Given the description of an element on the screen output the (x, y) to click on. 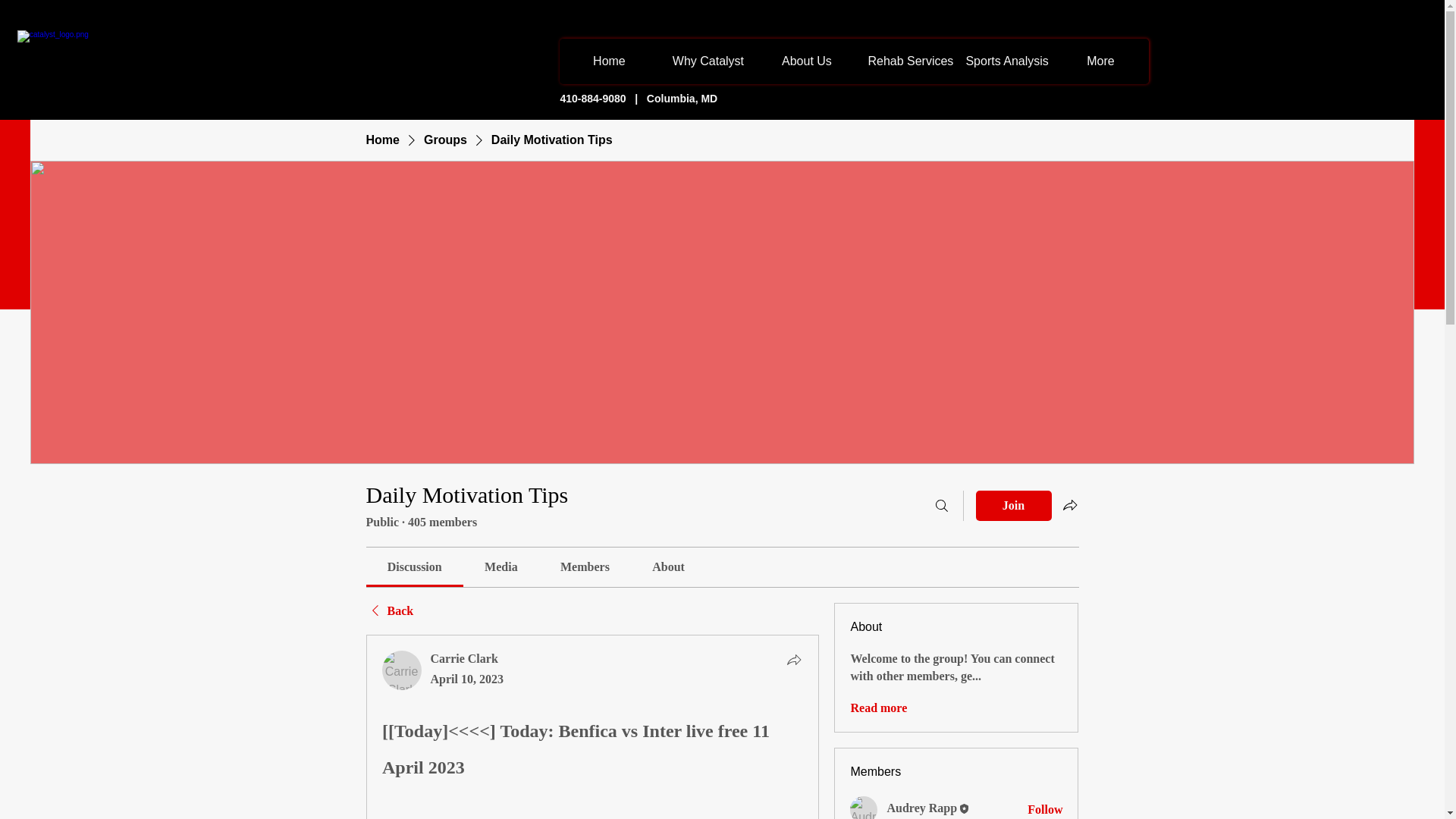
Why Catalyst (707, 61)
Carrie Clark (463, 658)
Audrey Rapp (921, 807)
Home (381, 139)
Read more (878, 708)
Rehab Services (904, 61)
Audrey Rapp (863, 807)
Carrie Clark (401, 670)
Groups (445, 139)
About Us (806, 61)
Back (389, 610)
Home (608, 61)
April 10, 2023 (466, 678)
Join (1013, 505)
Follow (1044, 809)
